Given the description of an element on the screen output the (x, y) to click on. 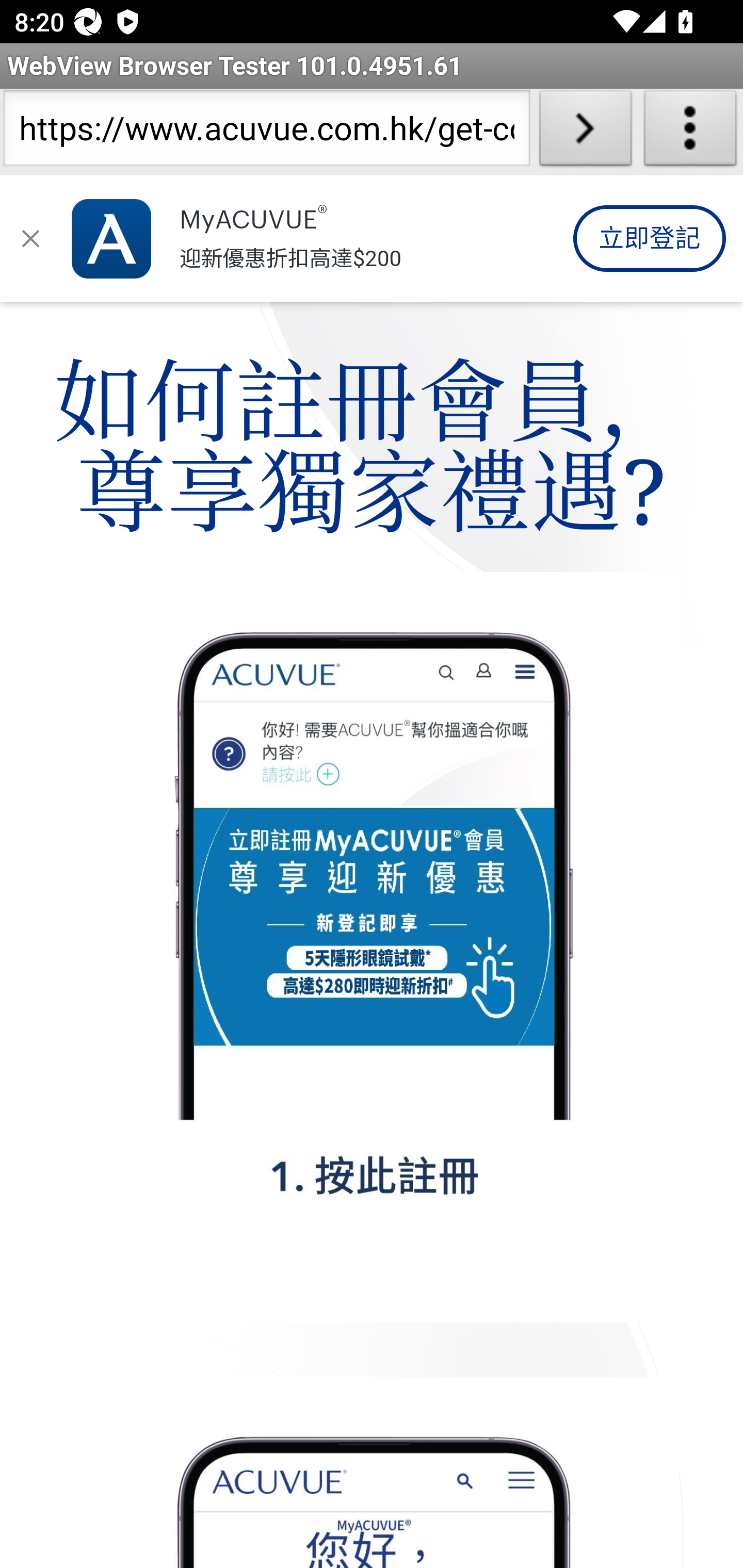
Load URL (585, 132)
About WebView (690, 132)
<br /> (372, 234)
立即登記 (649, 238)
 (30, 238)
myacuvue-iphone-pages_20230612_v02-1_5 (372, 947)
